Given the description of an element on the screen output the (x, y) to click on. 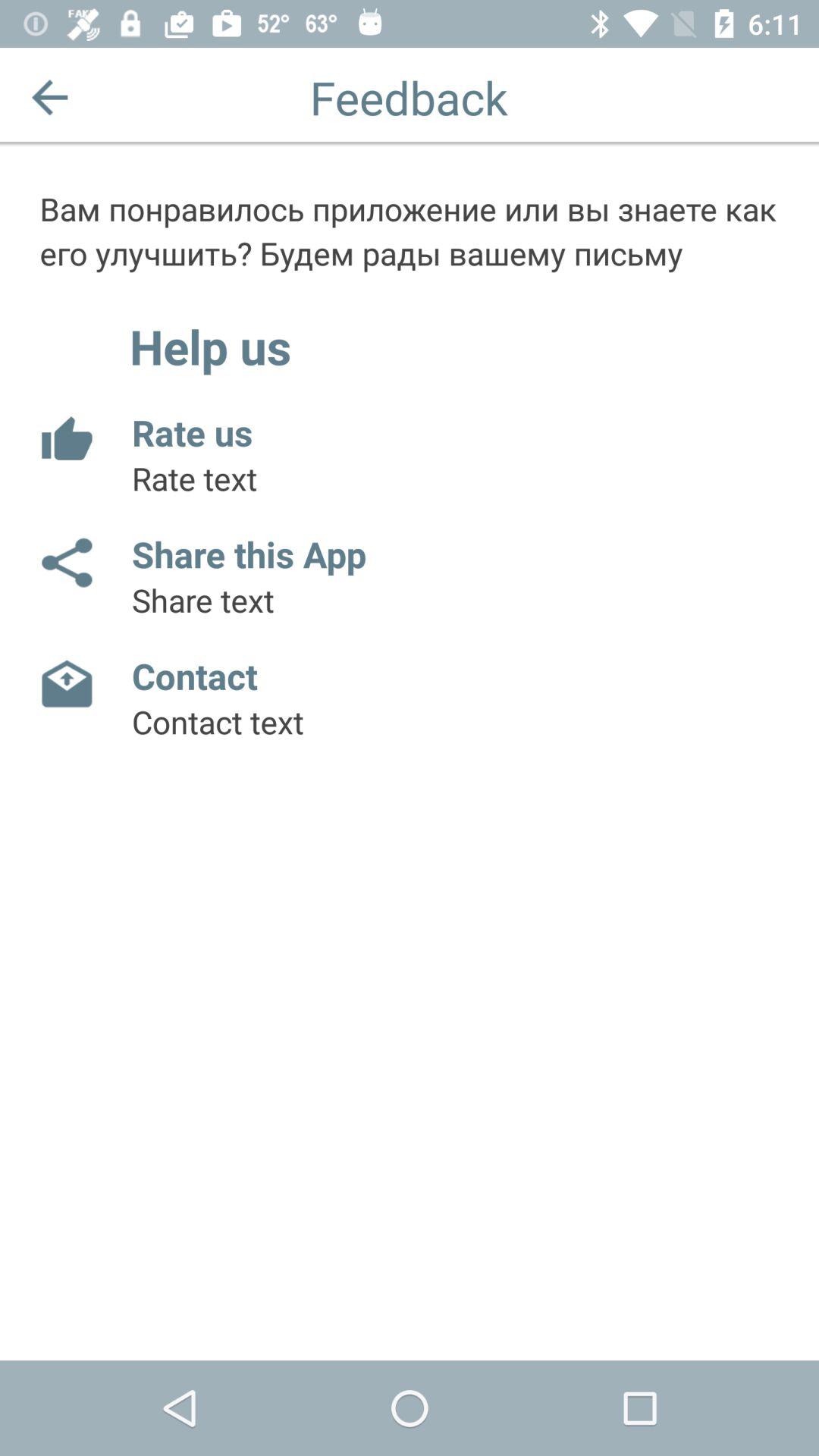
go to previous page (49, 97)
